Given the description of an element on the screen output the (x, y) to click on. 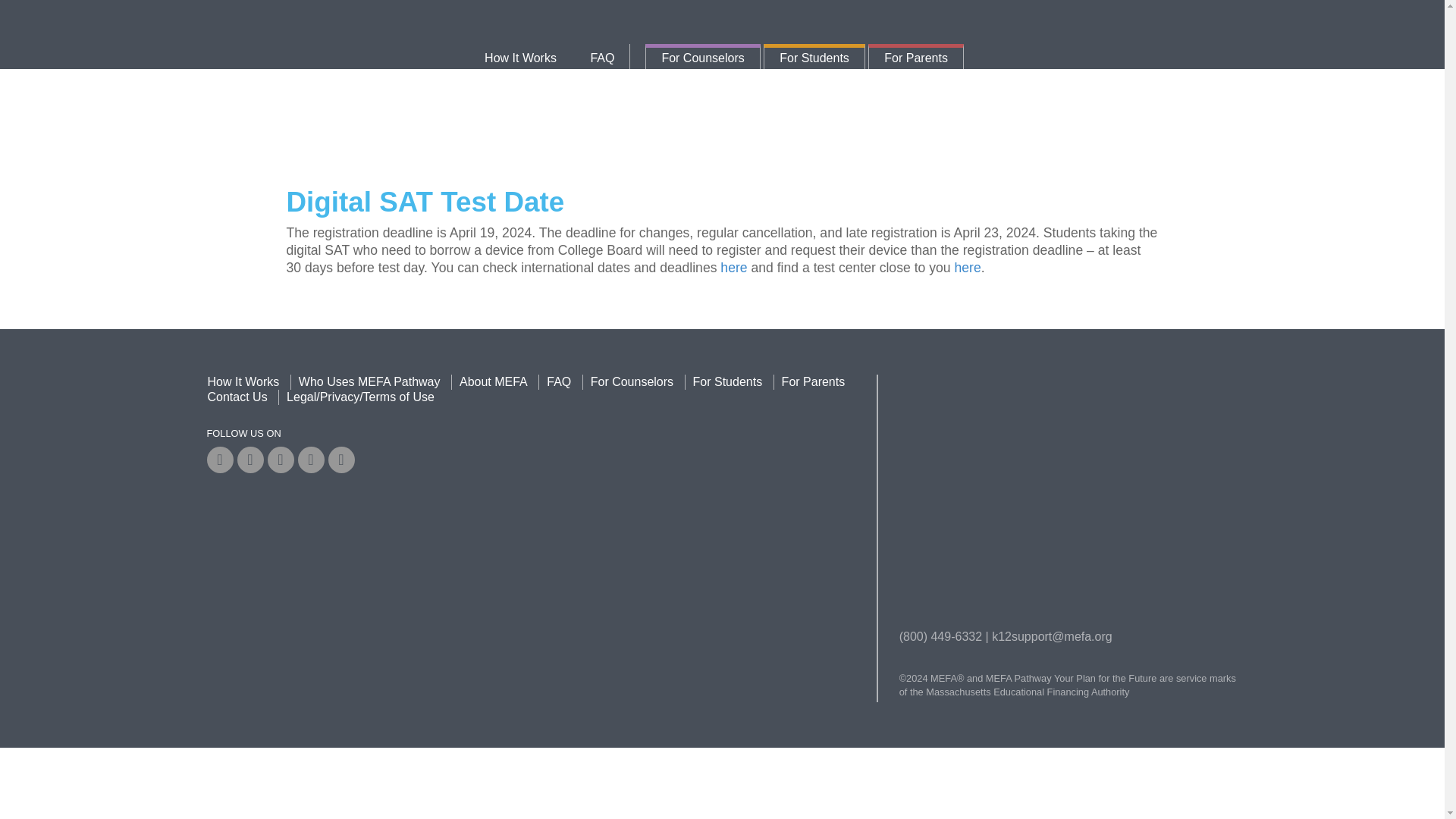
For Parents (813, 381)
How It Works (520, 57)
Who Uses MEFA Pathway (369, 381)
For Counselors (702, 57)
For Students (814, 57)
FAQ (601, 57)
here (966, 267)
FAQ (558, 381)
Contact Us (237, 396)
here (733, 267)
